Given the description of an element on the screen output the (x, y) to click on. 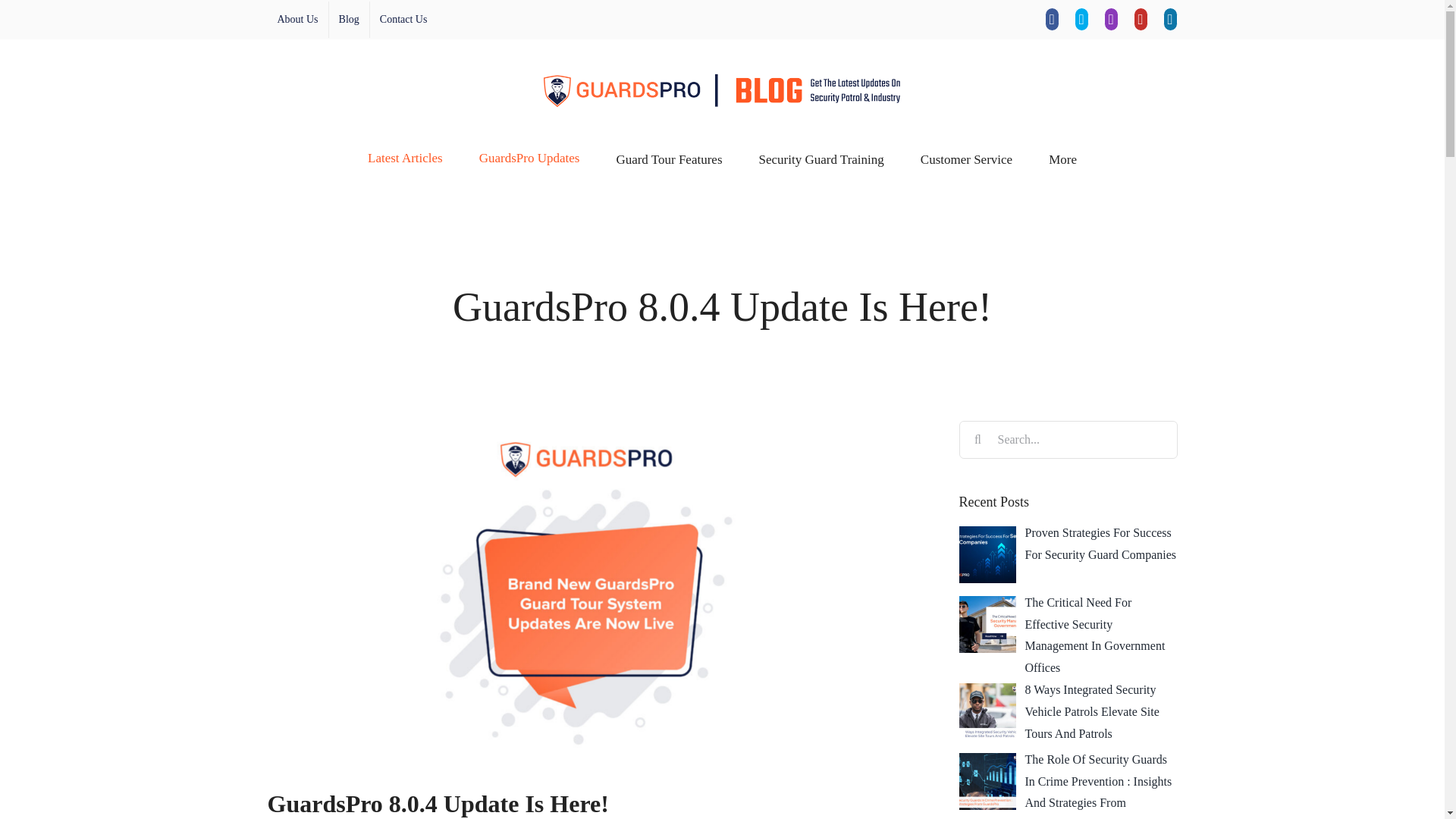
Blog (349, 19)
Latest Articles (405, 157)
Customer Service (965, 157)
GuardsPro Updates (529, 157)
More (1062, 157)
About Us (296, 19)
Contact Us (403, 19)
Security Guard Training (820, 157)
Guard Tour Features (668, 157)
